Given the description of an element on the screen output the (x, y) to click on. 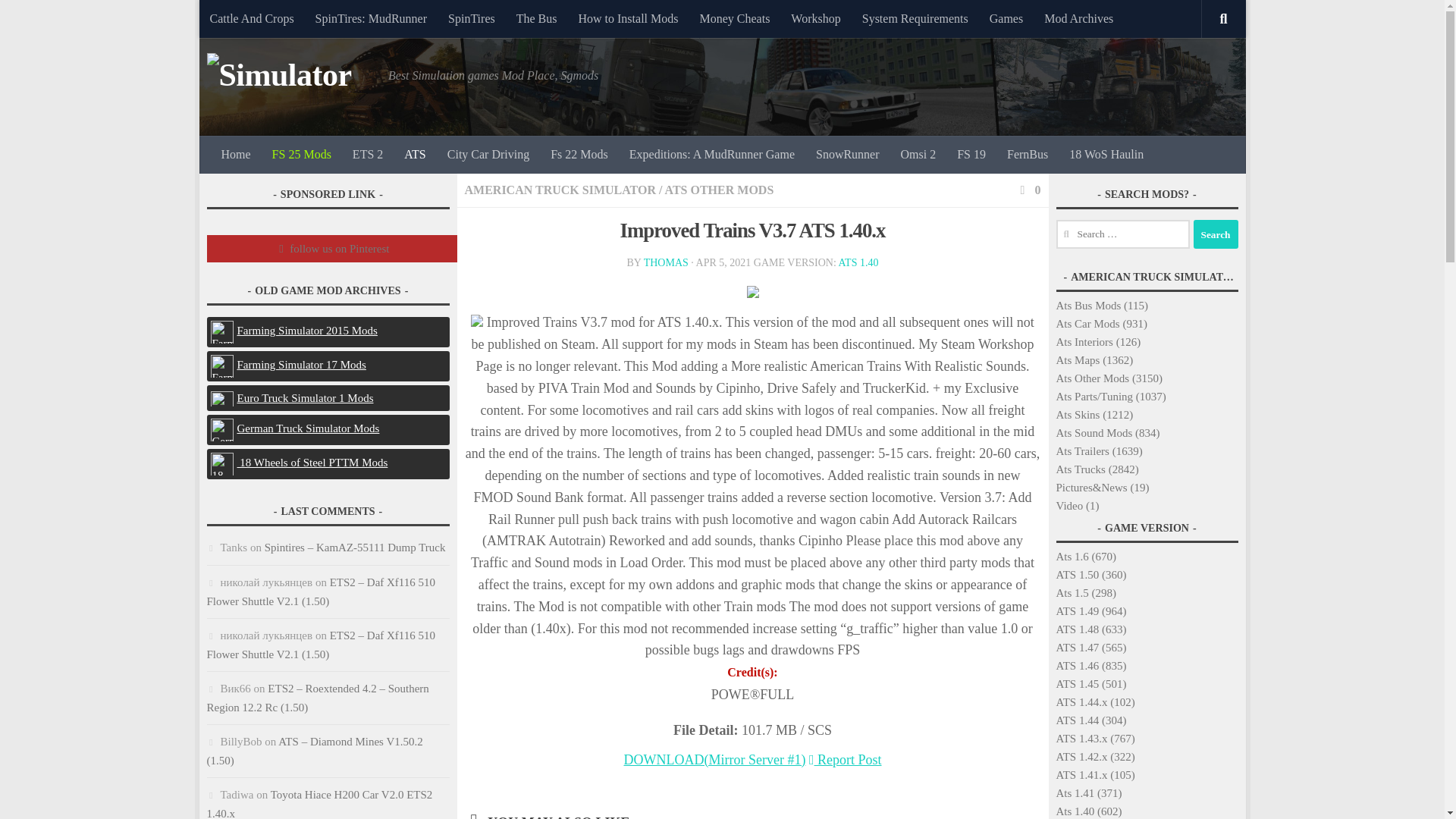
SpinTires (471, 18)
Search (1216, 234)
Cattle And Crops (251, 18)
SnowRunner (847, 154)
Workshop (815, 18)
Fs17 mods (288, 364)
Farming Simulator 2015 Mods (224, 331)
Games (1005, 18)
Skip to content (258, 20)
ETS 2 (367, 154)
ls2015 mods (294, 330)
ATS (414, 154)
Mod Archives (1078, 18)
FS 19 (970, 154)
Fs 22 Mods (579, 154)
